Given the description of an element on the screen output the (x, y) to click on. 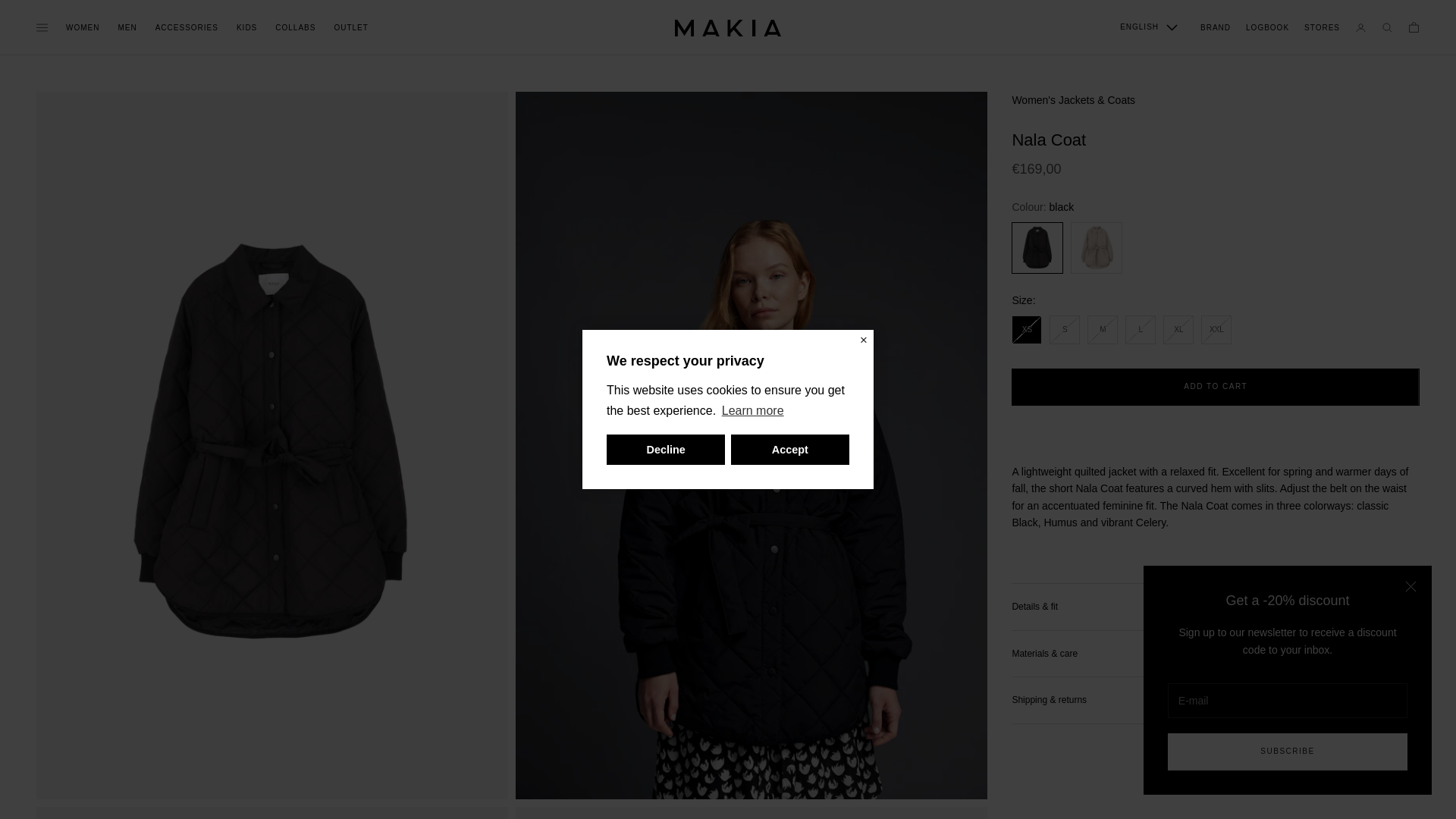
Stores (1321, 27)
Outlet (350, 27)
Brand (1214, 27)
Learn more (752, 410)
Open cart (1413, 27)
Collabs (295, 27)
Open search (1387, 27)
Kids (246, 27)
Open navigation menu (42, 27)
STORES (1321, 27)
Women (82, 27)
Men (126, 27)
Makia (727, 27)
Open account page (1361, 27)
